Given the description of an element on the screen output the (x, y) to click on. 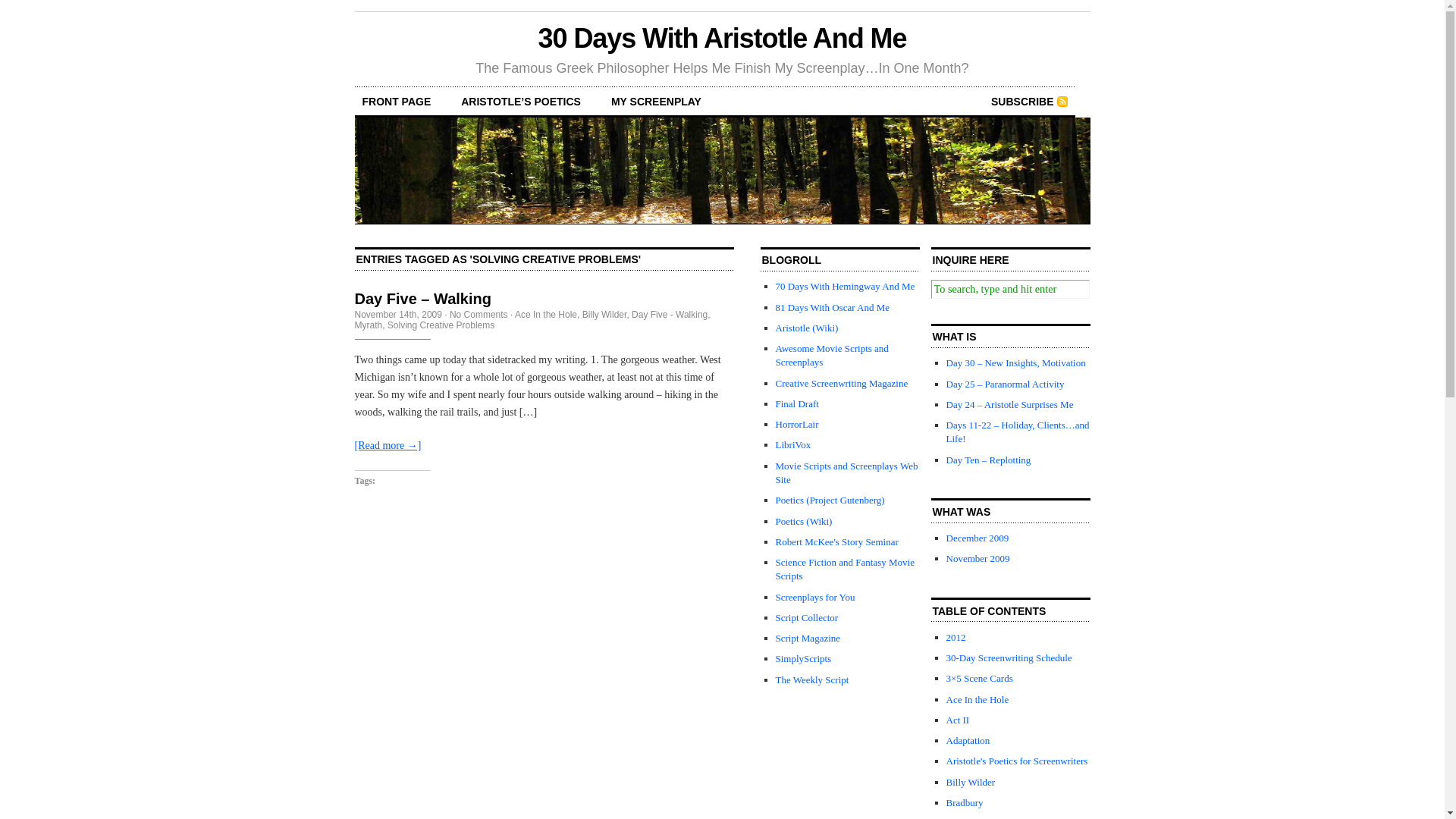
Ace In the Hole Element type: text (977, 699)
Script Magazine Element type: text (807, 637)
Script Collector Element type: text (806, 617)
No Comments Element type: text (478, 314)
Adaptation Element type: text (968, 740)
Awesome Movie Scripts and Screenplays Element type: text (831, 354)
Movie Scripts and Screenplays Web Site Element type: text (846, 472)
30 Days With Aristotle And Me header image 4 Element type: hover (722, 170)
Day Five - Walking Element type: text (669, 314)
FRONT PAGE Element type: text (396, 101)
Aristotle (Wiki) Element type: text (806, 327)
Bradbury Element type: text (964, 802)
Science Fiction and Fantasy Movie Scripts Element type: text (844, 568)
Final Draft Element type: text (796, 403)
Act II Element type: text (957, 719)
Aristotle's Poetics for Screenwriters Element type: text (1017, 760)
Poetics (Project Gutenberg) Element type: text (829, 499)
2012 Element type: text (956, 637)
Poetics (Wiki) Element type: text (803, 521)
30-Day Screenwriting Schedule Element type: text (1009, 657)
70 Days With Hemingway And Me Element type: text (844, 285)
Myrath Element type: text (368, 325)
The Weekly Script Element type: text (811, 679)
Screenplays for You Element type: text (814, 596)
Ace In the Hole Element type: text (545, 314)
MY SCREENPLAY Element type: text (656, 101)
Billy Wilder Element type: text (970, 781)
December 2009 Element type: text (977, 537)
SimplyScripts Element type: text (803, 658)
November 2009 Element type: text (978, 558)
Billy Wilder Element type: text (604, 314)
30 Days With Aristotle And Me Element type: text (722, 37)
Robert McKee's Story Seminar Element type: text (836, 541)
81 Days With Oscar And Me Element type: text (832, 307)
LibriVox Element type: text (792, 444)
Creative Screenwriting Magazine Element type: text (841, 383)
Solving Creative Problems Element type: text (440, 325)
HorrorLair Element type: text (796, 423)
SUBSCRIBE Element type: text (1028, 101)
